Given the description of an element on the screen output the (x, y) to click on. 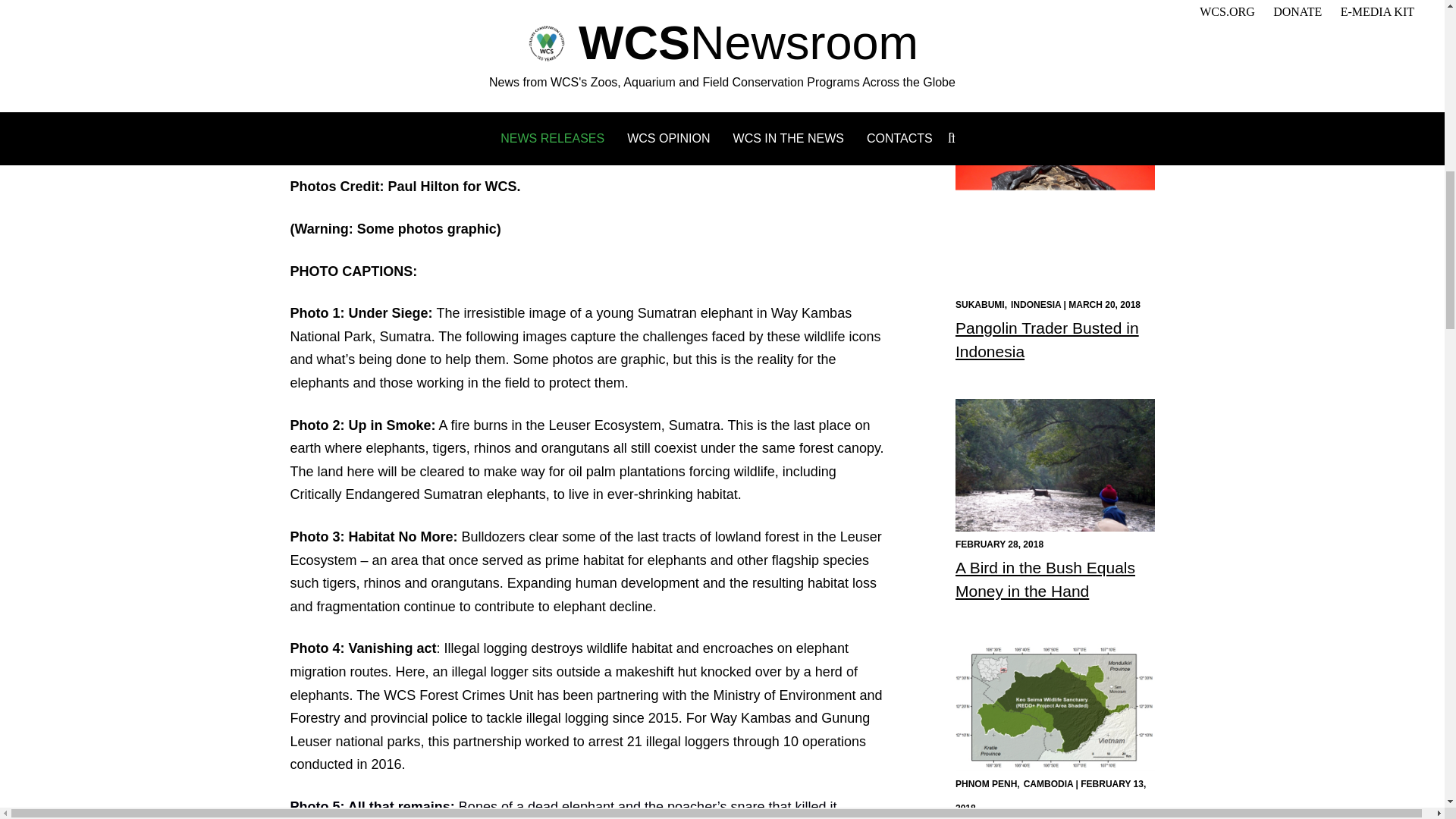
A Bird in the Bush Equals Money in the Hand (1045, 578)
Pangolin Trader Busted in Indonesia (1046, 340)
Elephants and Ivory in the News at CITES CoP18 (1047, 100)
